Given the description of an element on the screen output the (x, y) to click on. 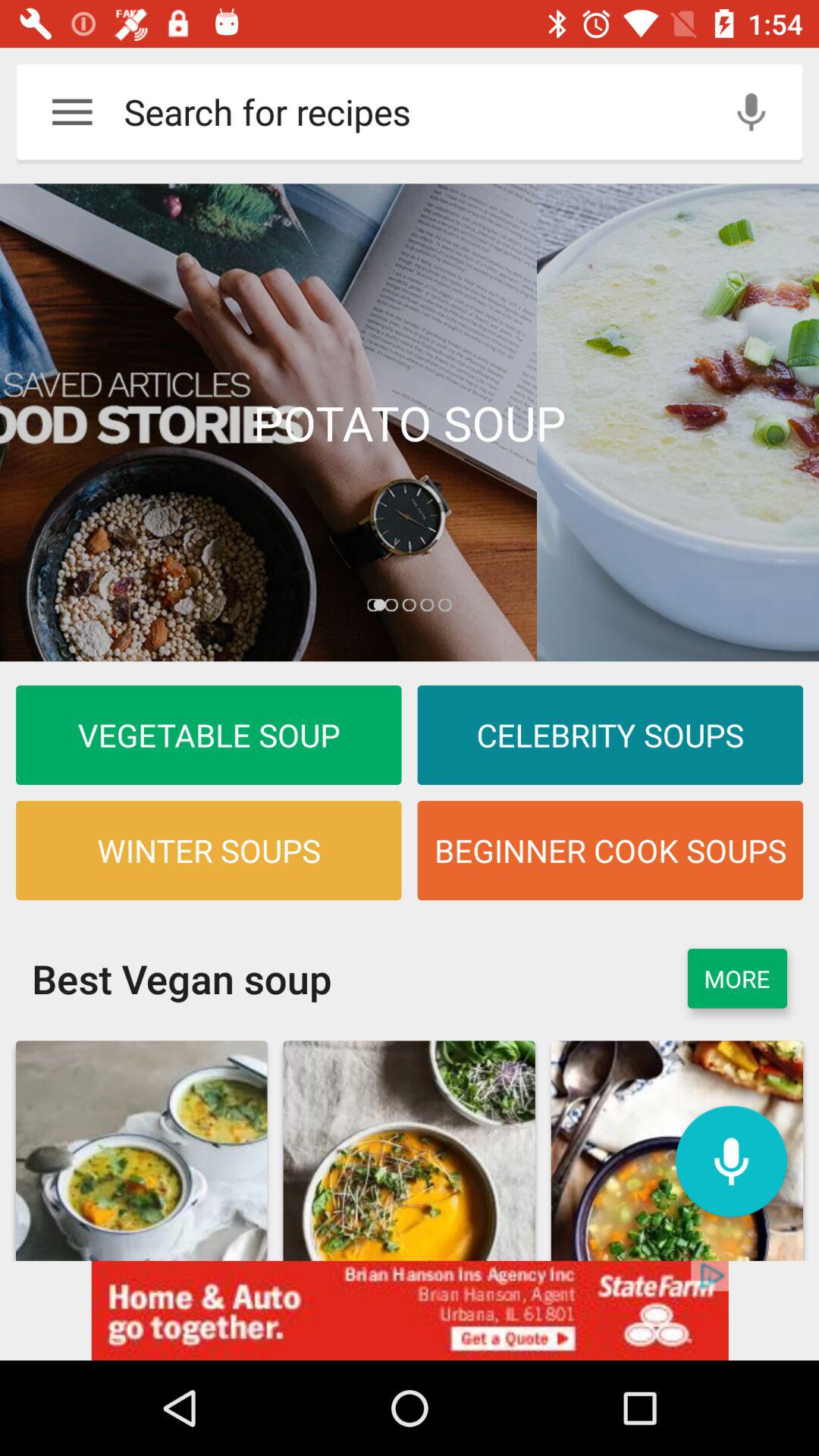
microphone search (751, 111)
